Given the description of an element on the screen output the (x, y) to click on. 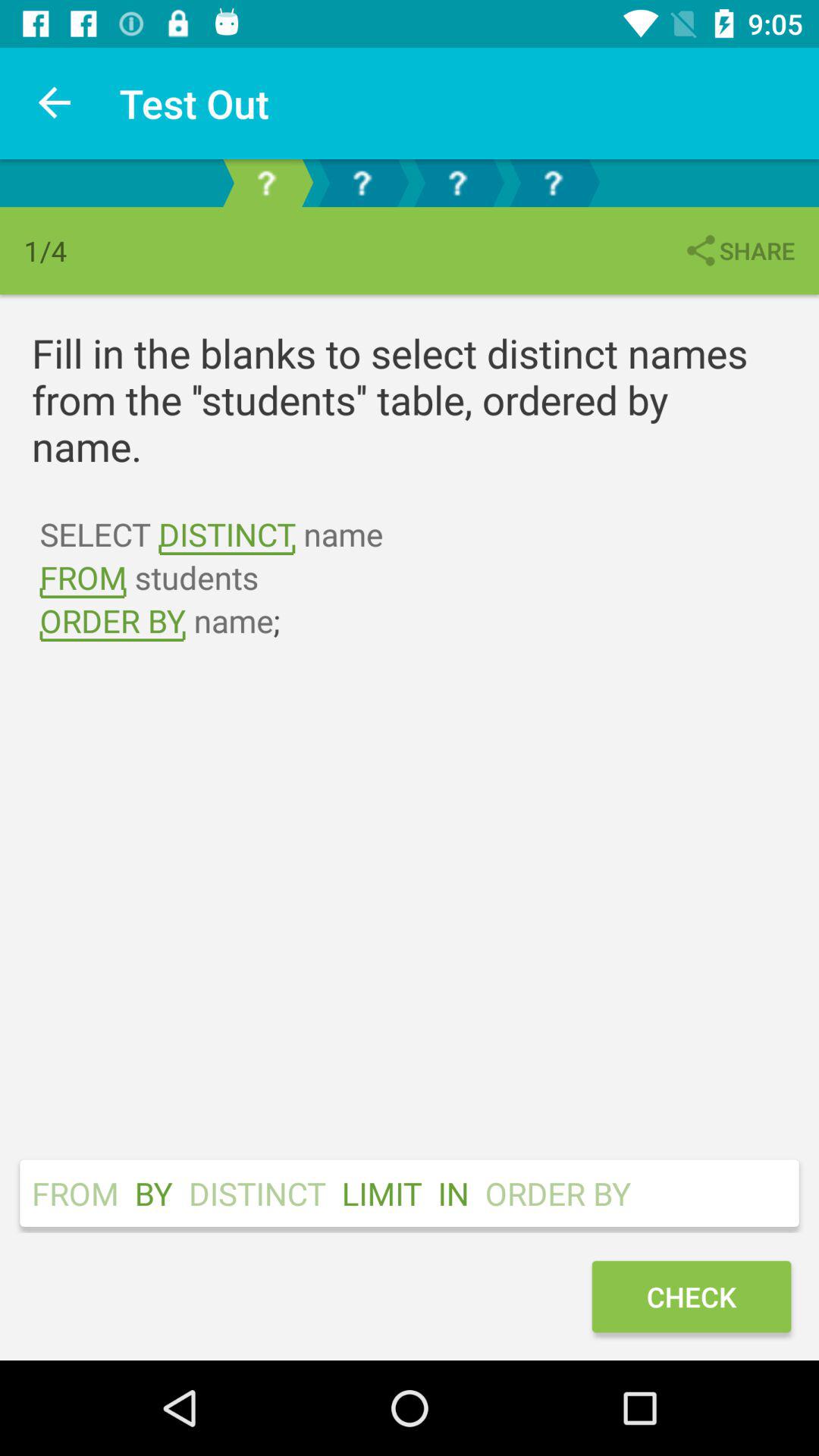
select the check (691, 1296)
